Given the description of an element on the screen output the (x, y) to click on. 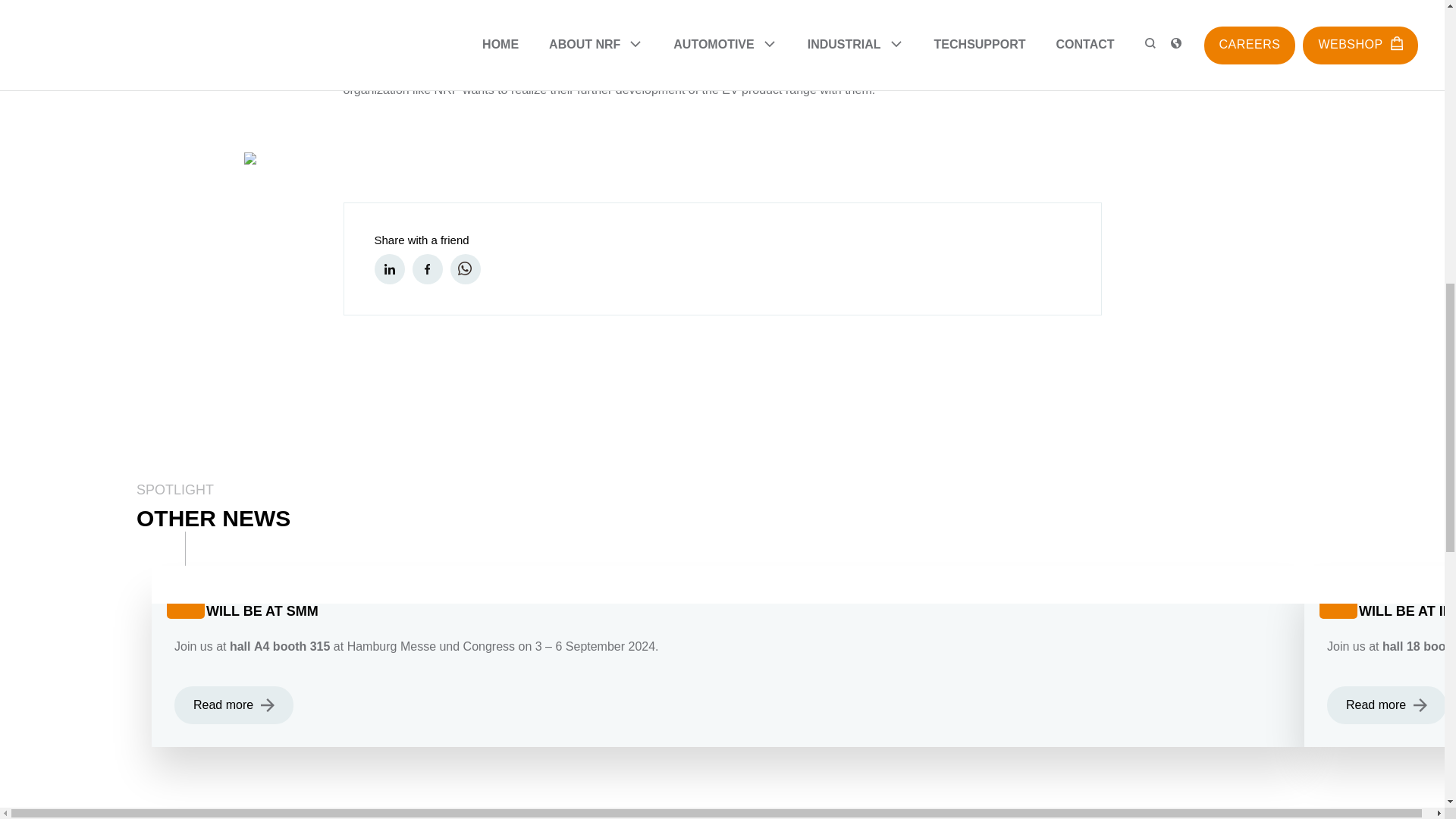
Read more (234, 704)
Read more (1385, 704)
